Given the description of an element on the screen output the (x, y) to click on. 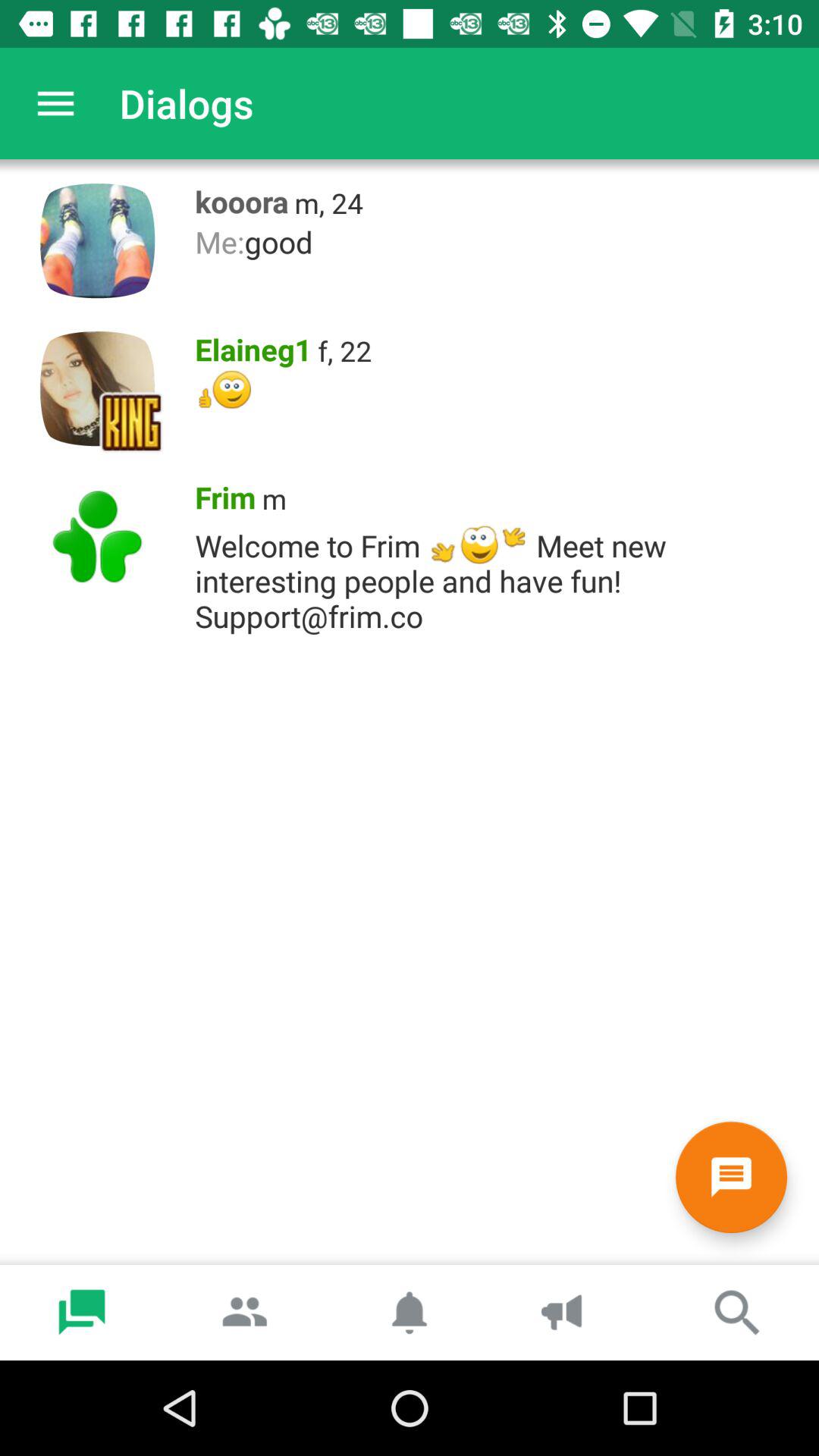
tap item above the elaineg1 icon (499, 241)
